Given the description of an element on the screen output the (x, y) to click on. 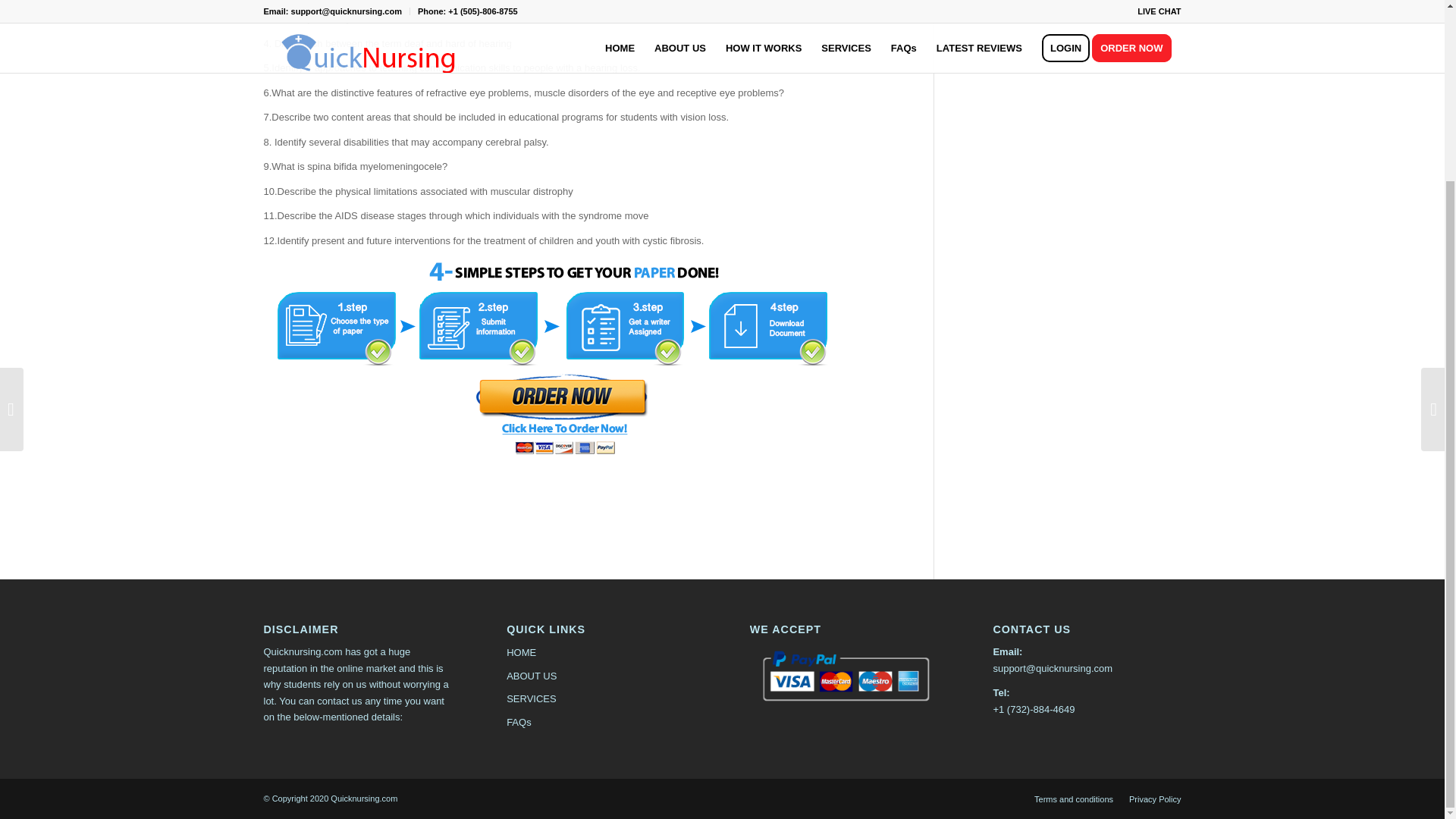
HOME (600, 652)
Privacy Policy (1154, 798)
ABOUT US (600, 676)
SERVICES (600, 698)
Terms and conditions (1073, 798)
FAQs (600, 722)
